Given the description of an element on the screen output the (x, y) to click on. 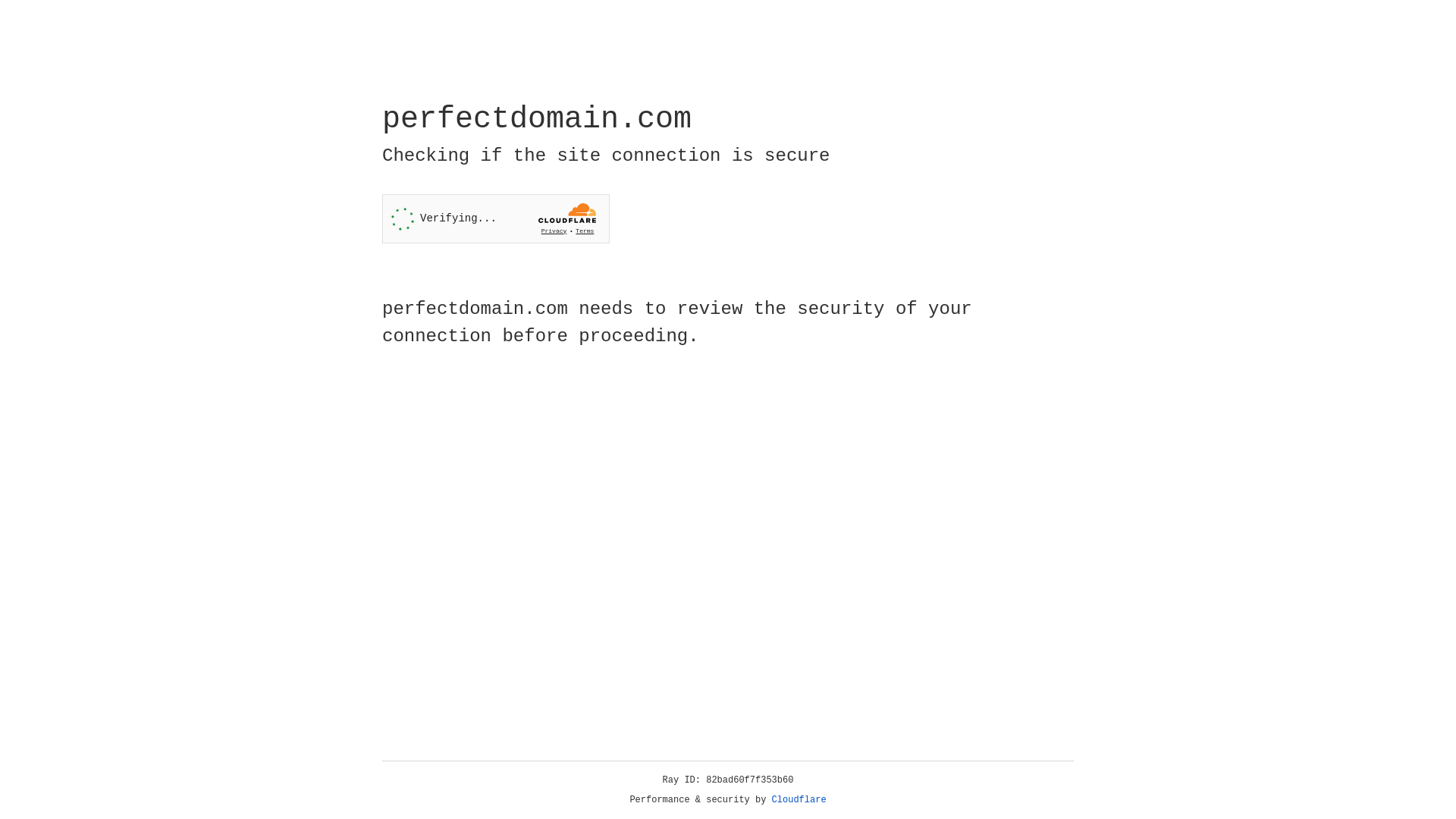
Widget containing a Cloudflare security challenge Element type: hover (495, 218)
Cloudflare Element type: text (798, 799)
